Given the description of an element on the screen output the (x, y) to click on. 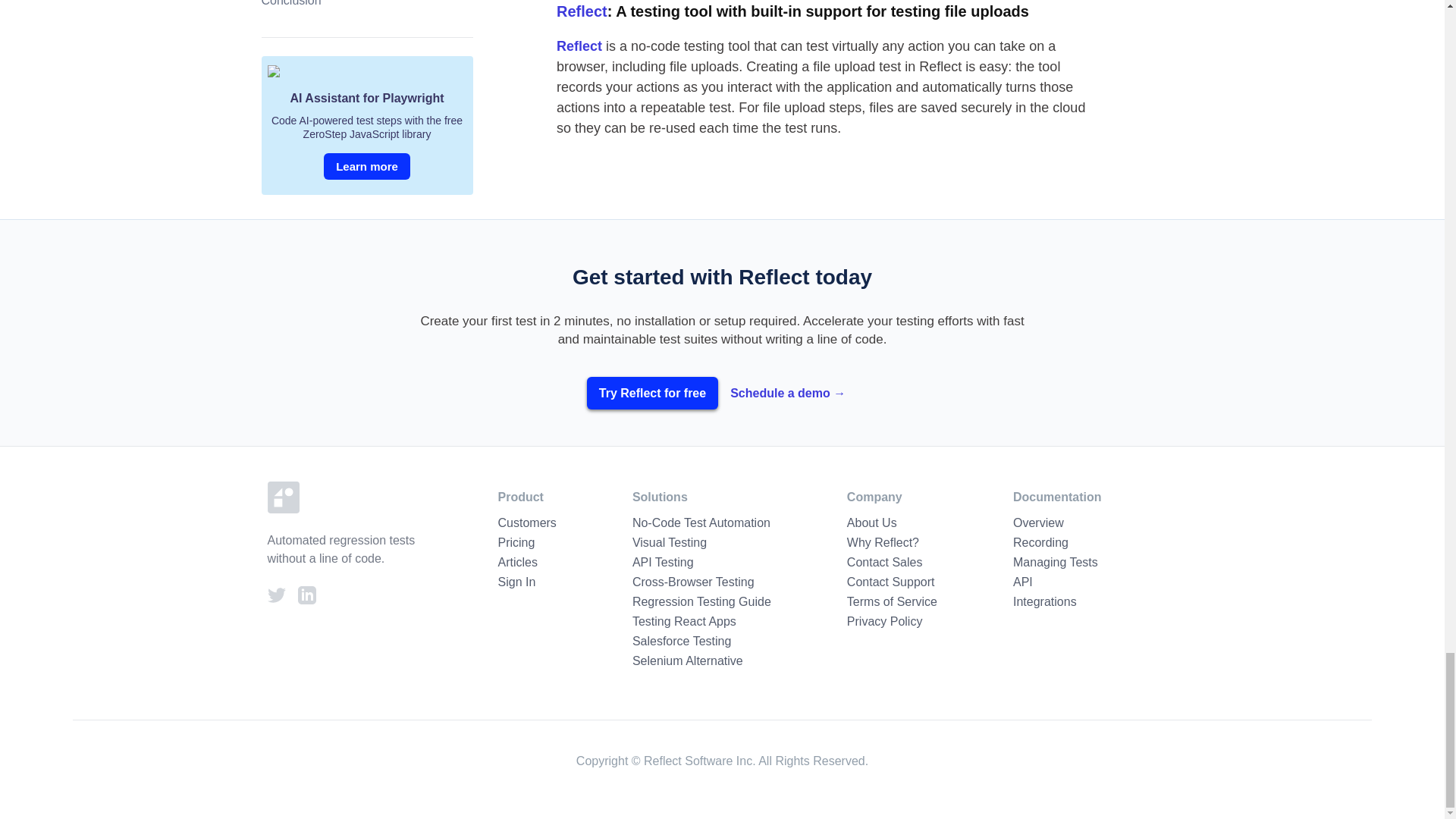
Reflect (581, 11)
Reflect (579, 46)
Try Reflect for free (651, 392)
